Given the description of an element on the screen output the (x, y) to click on. 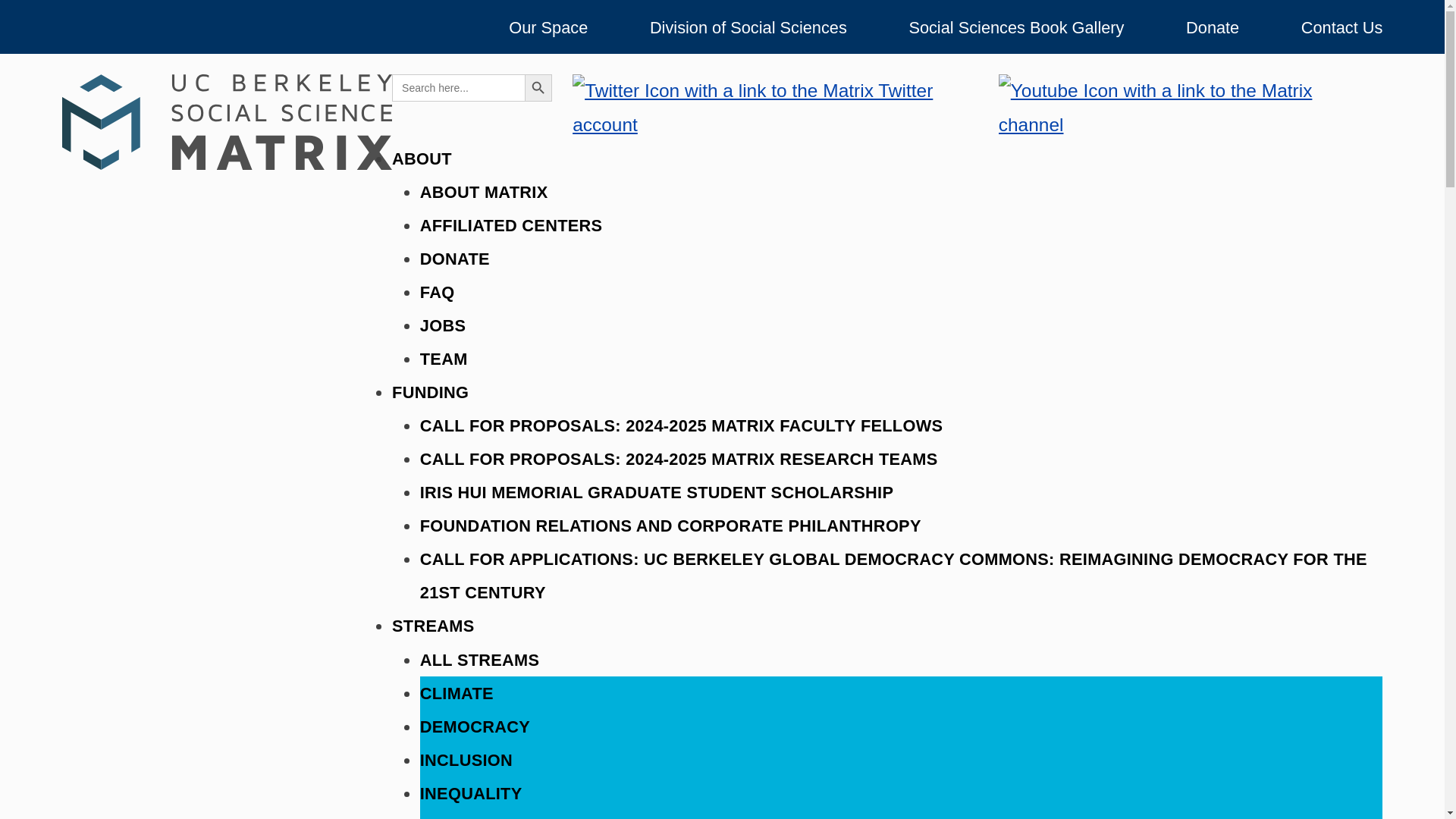
IRIS HUI MEMORIAL GRADUATE STUDENT SCHOLARSHIP (656, 491)
INFORMATION (478, 817)
CALL FOR PROPOSALS: 2024-2025 MATRIX FACULTY FELLOWS (681, 424)
ABOUT (421, 158)
SEARCH BUTTON (537, 87)
DONATE (454, 258)
Contact Us (1342, 27)
CLIMATE (456, 692)
CALL FOR PROPOSALS: 2024-2025 MATRIX RESEARCH TEAMS (678, 457)
Our Space (548, 27)
